Given the description of an element on the screen output the (x, y) to click on. 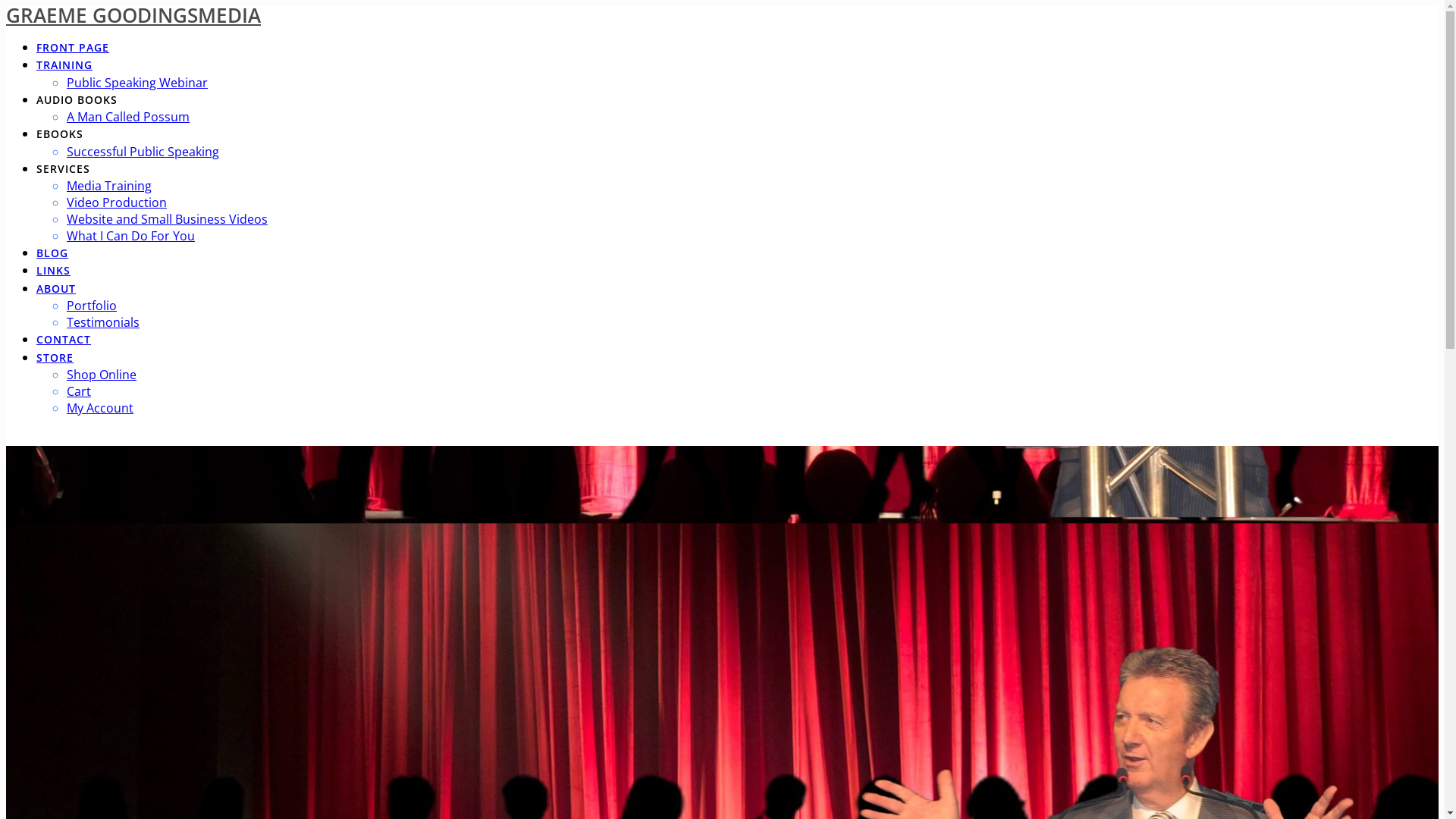
Skip to content Element type: text (5, 5)
LINKS Element type: text (53, 271)
SERVICES Element type: text (63, 169)
ABOUT Element type: text (55, 289)
AUDIO BOOKS Element type: text (76, 100)
Portfolio Element type: text (91, 305)
Cart Element type: text (78, 390)
GRAEME GOODINGSMEDIA Element type: text (133, 15)
Website and Small Business Videos Element type: text (166, 218)
FRONT PAGE Element type: text (72, 48)
TRAINING Element type: text (64, 65)
Video Production Element type: text (116, 202)
A Man Called Possum Element type: text (127, 116)
Media Training Element type: text (108, 185)
Shop Online Element type: text (101, 374)
STORE Element type: text (54, 358)
Testimonials Element type: text (102, 321)
My Account Element type: text (99, 407)
CONTACT Element type: text (63, 340)
BLOG Element type: text (52, 253)
Successful Public Speaking Element type: text (142, 151)
What I Can Do For You Element type: text (130, 235)
EBOOKS Element type: text (59, 134)
Public Speaking Webinar Element type: text (136, 82)
